Given the description of an element on the screen output the (x, y) to click on. 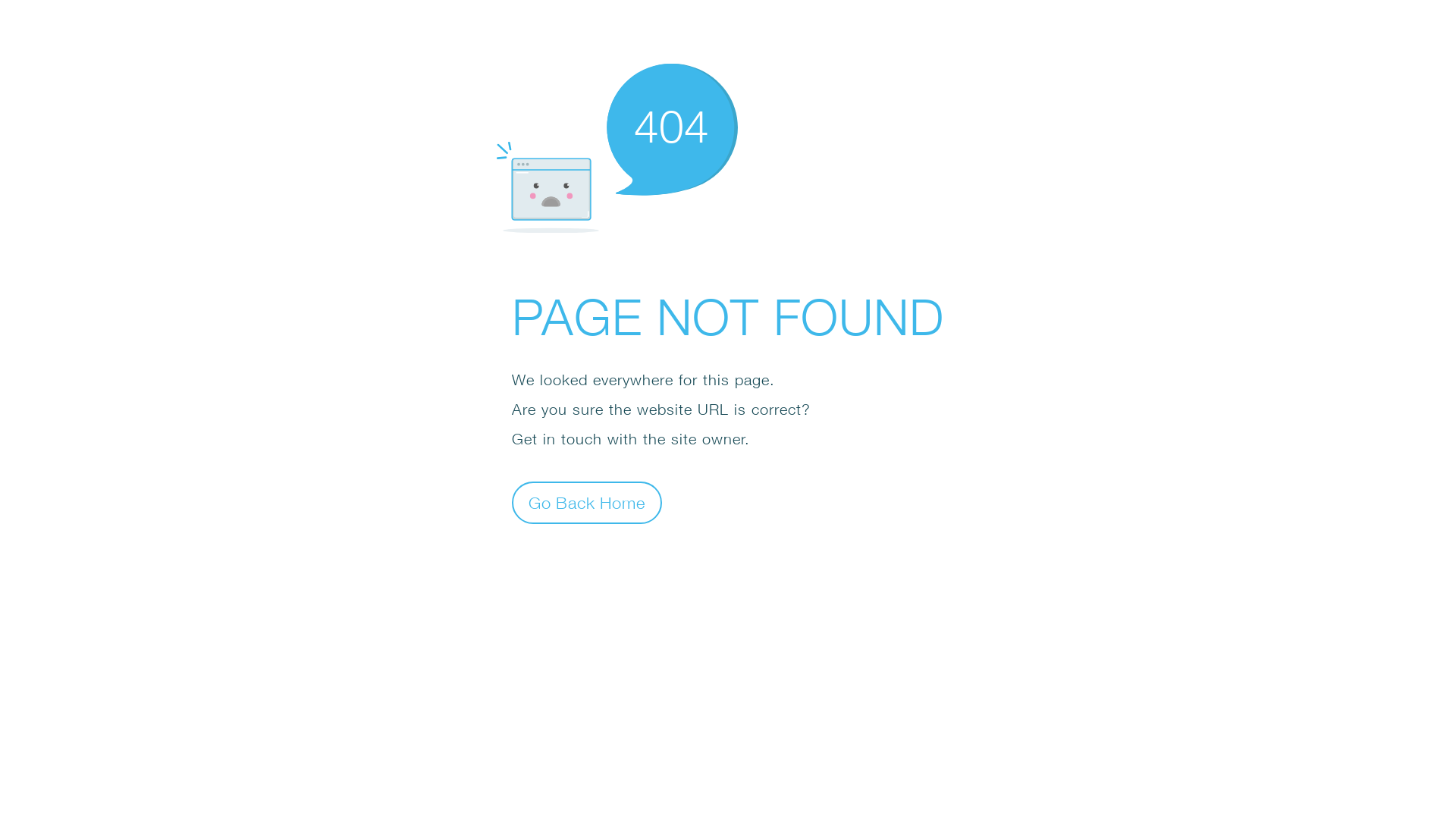
Go Back Home Element type: text (586, 502)
